Given the description of an element on the screen output the (x, y) to click on. 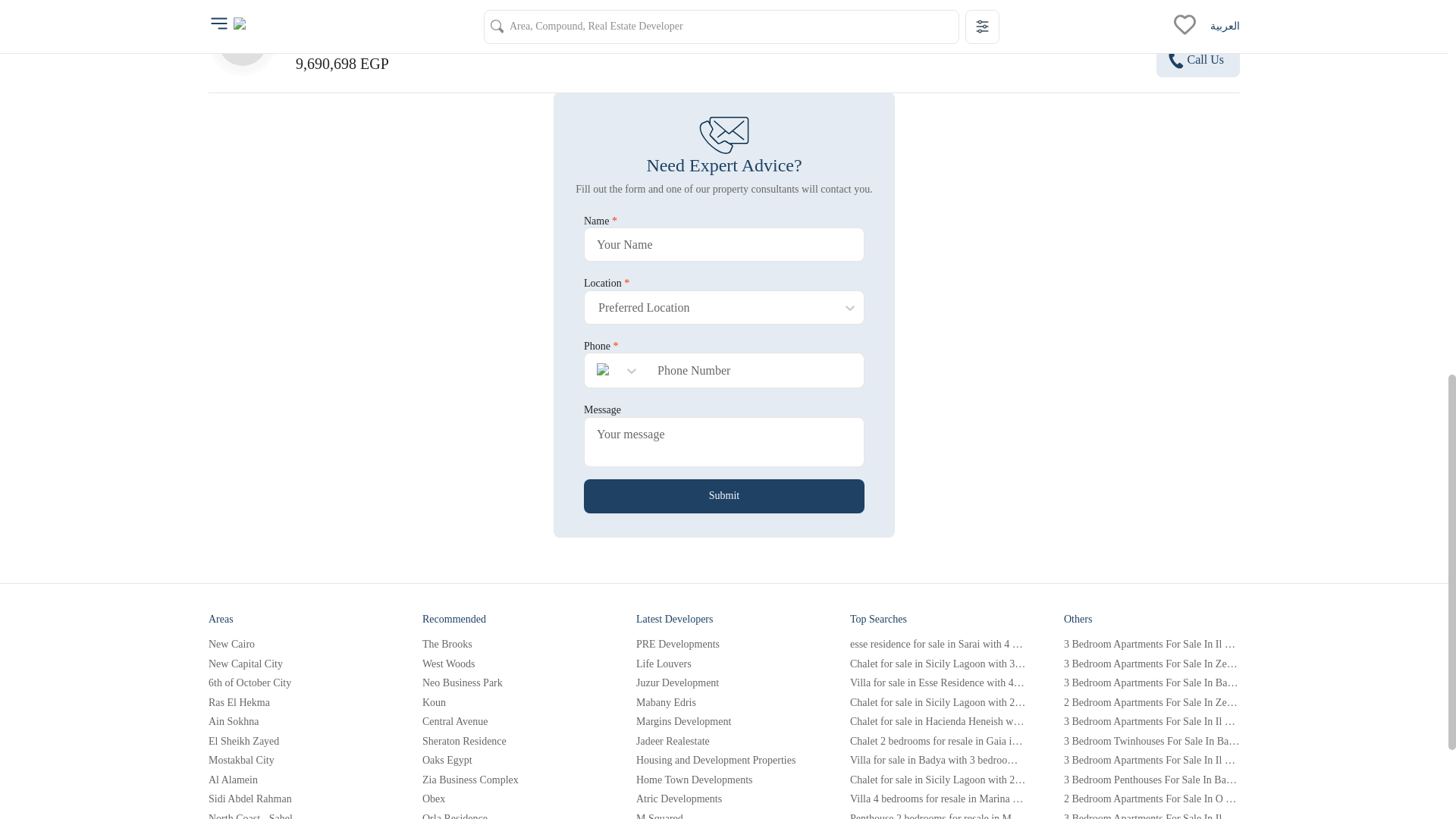
El Sheikh Zayed (296, 740)
Ras El Hekma (296, 703)
Home Town Developments (724, 780)
Obex (510, 798)
Sidi Abdel Rahman (296, 798)
Life Louvers (724, 663)
Koun (510, 703)
Central Avenue (510, 721)
Neo Business Park (510, 683)
PRE Developments (724, 644)
Al Alamein (296, 780)
Oaks Egypt (510, 760)
New Capital City (296, 663)
Mostakbal City (296, 760)
Submit (723, 496)
